Given the description of an element on the screen output the (x, y) to click on. 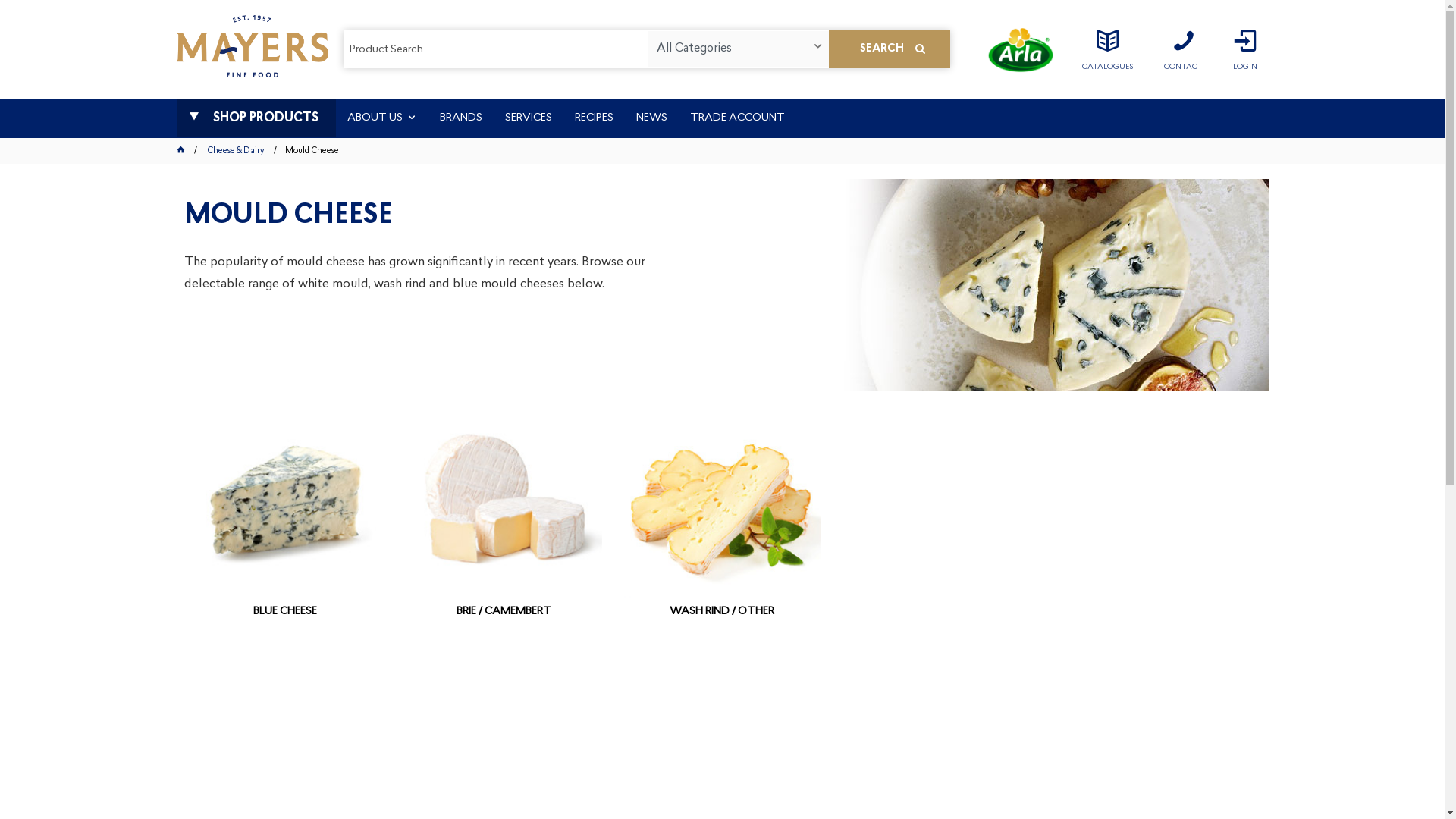
Wash Rind / Other Element type: hover (722, 499)
CONTACT Element type: text (1182, 50)
SERVICES Element type: text (527, 117)
Blue Cheese Element type: hover (285, 499)
SEARCH Element type: text (888, 49)
WASH RIND / OTHER Element type: text (722, 628)
NEWS Element type: text (651, 117)
BRIE / CAMEMBERT Element type: text (503, 628)
BRANDS Element type: text (459, 117)
BLUE CHEESE Element type: text (285, 628)
TRADE ACCOUNT Element type: text (736, 117)
LOGIN Element type: text (1243, 53)
CATALOGUES Element type: text (1107, 50)
Cheese & Dairy Element type: text (235, 151)
Brie / Camembert Element type: hover (503, 499)
RECIPES Element type: text (593, 117)
